Given the description of an element on the screen output the (x, y) to click on. 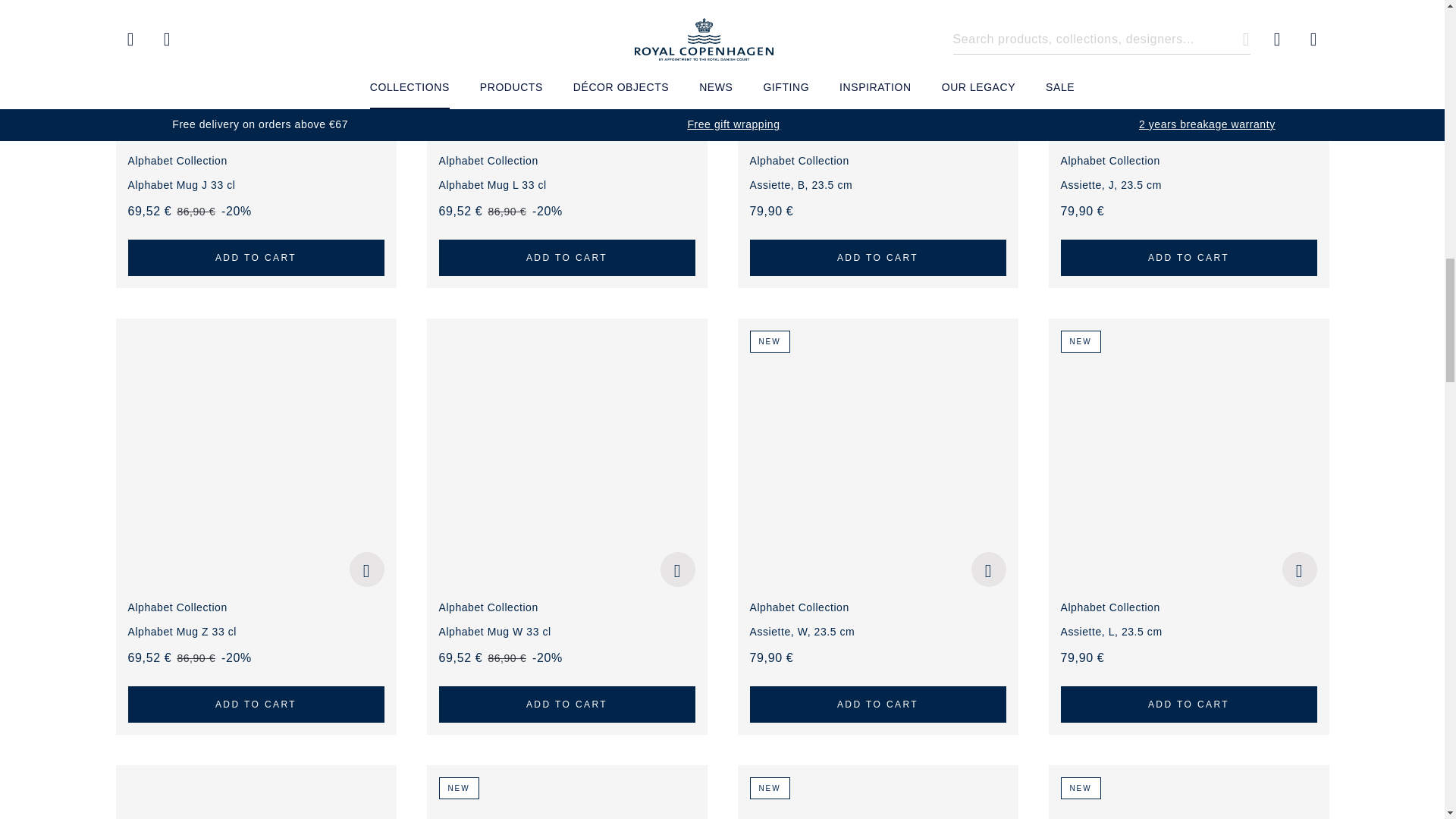
Add to cart (1187, 257)
Add to cart (256, 257)
Add to cart (877, 257)
Add to cart (1187, 704)
Add to cart (566, 704)
Add to cart (877, 704)
Add to cart (256, 704)
Add to cart (566, 257)
